Given the description of an element on the screen output the (x, y) to click on. 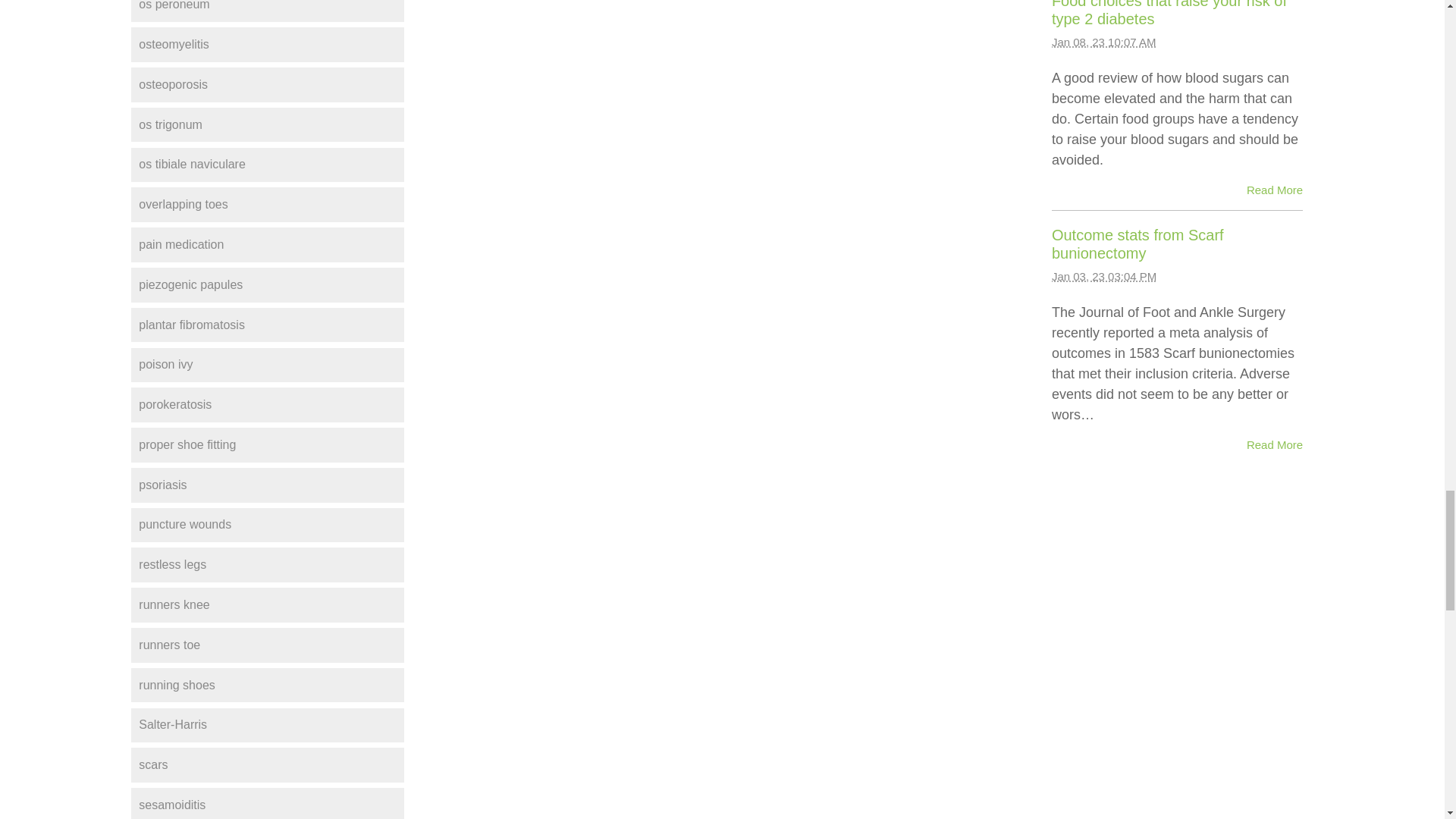
2023-01-08T10:07:31-0500 (1103, 42)
2023-01-03T15:04:31-0500 (1103, 276)
